Given the description of an element on the screen output the (x, y) to click on. 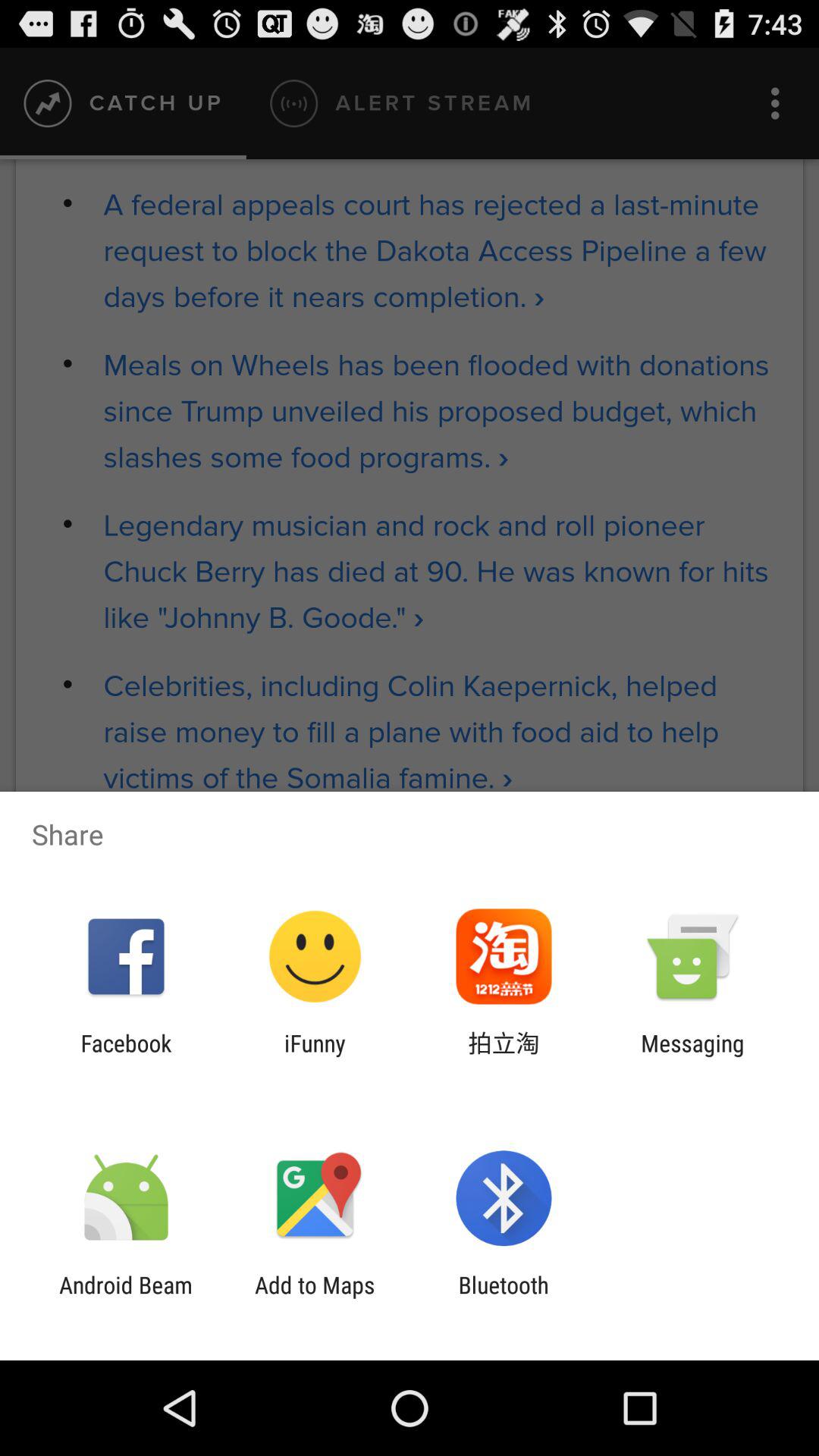
tap item to the right of android beam item (314, 1298)
